Given the description of an element on the screen output the (x, y) to click on. 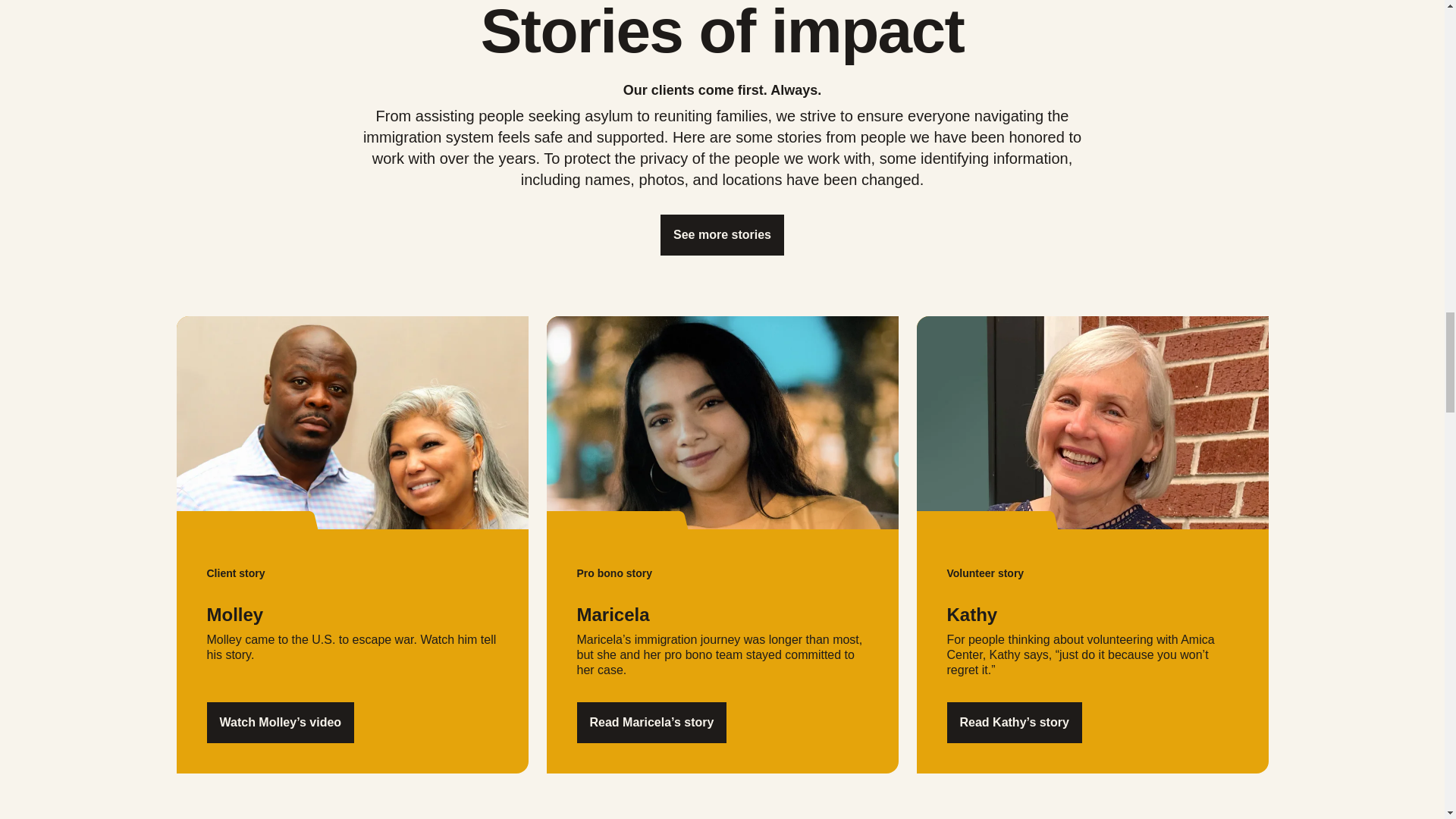
See more stories (722, 234)
